Given the description of an element on the screen output the (x, y) to click on. 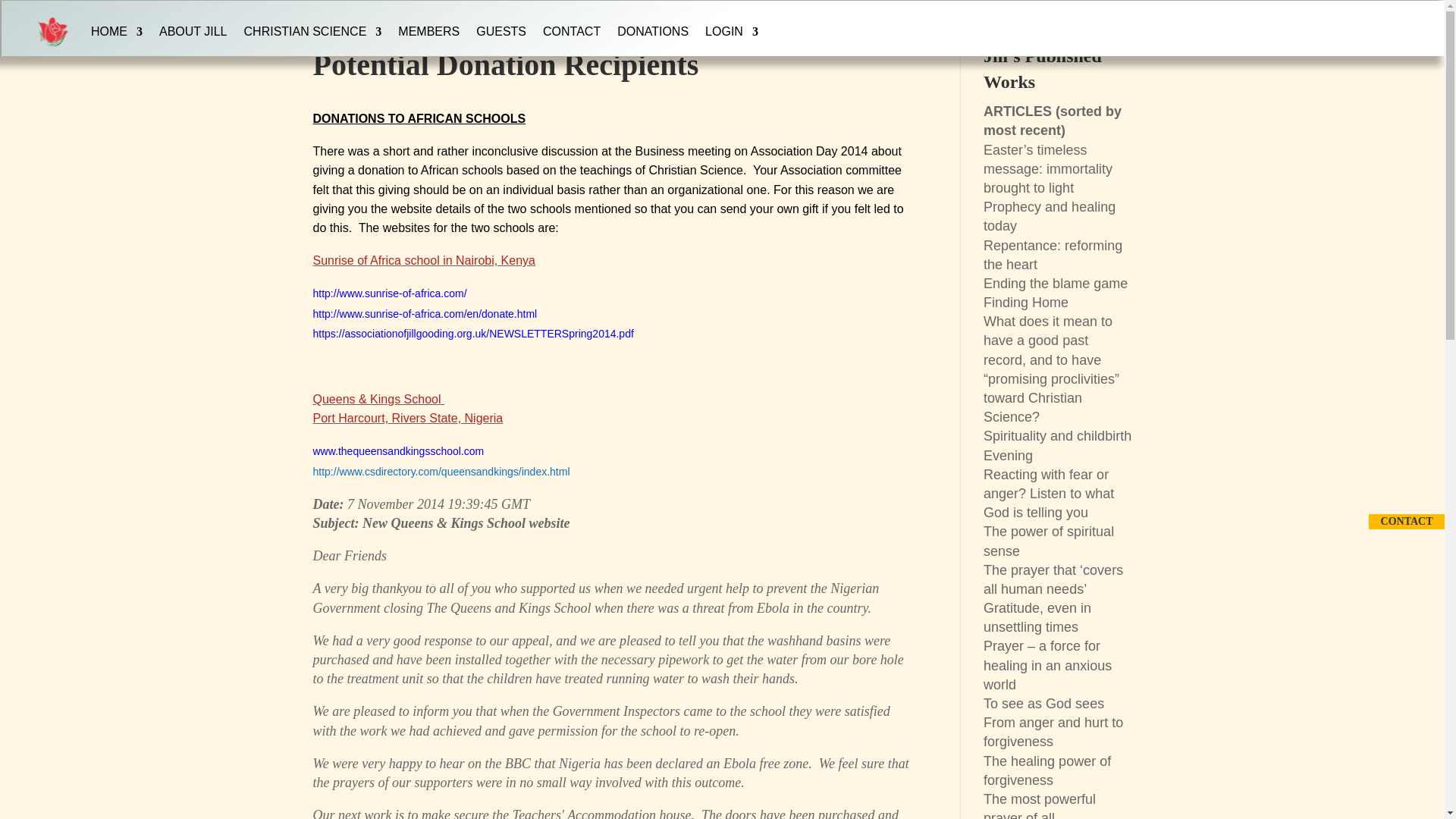
To see as God sees (1043, 703)
Evening (1008, 455)
Finding Home (1026, 302)
The power of spiritual sense (1048, 540)
Gratitude, even in unsettling times (1037, 617)
Ending the blame game (1055, 283)
Prophecy and healing today (1049, 216)
From anger and hurt to forgiveness (1053, 731)
ABOUT JILL (192, 31)
